Given the description of an element on the screen output the (x, y) to click on. 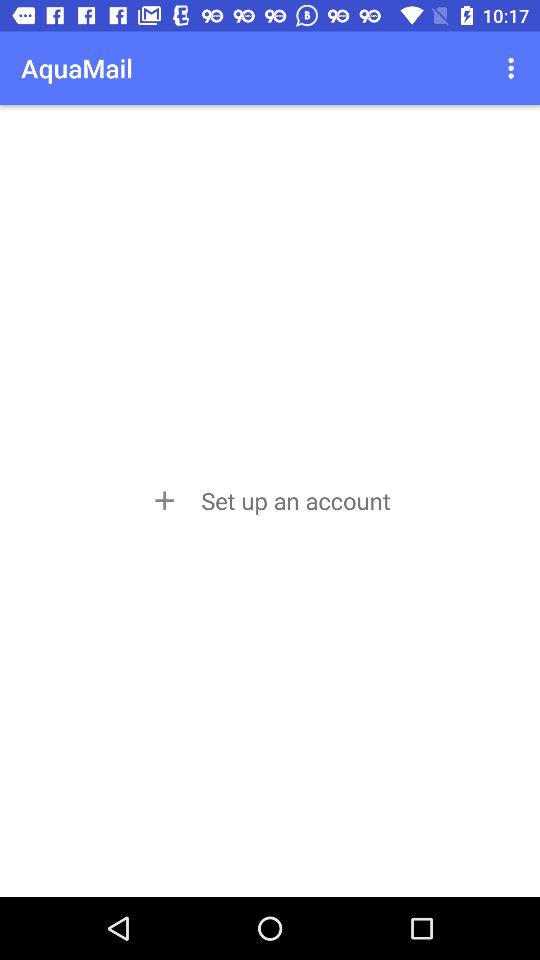
launch app to the right of aquamail app (513, 67)
